Given the description of an element on the screen output the (x, y) to click on. 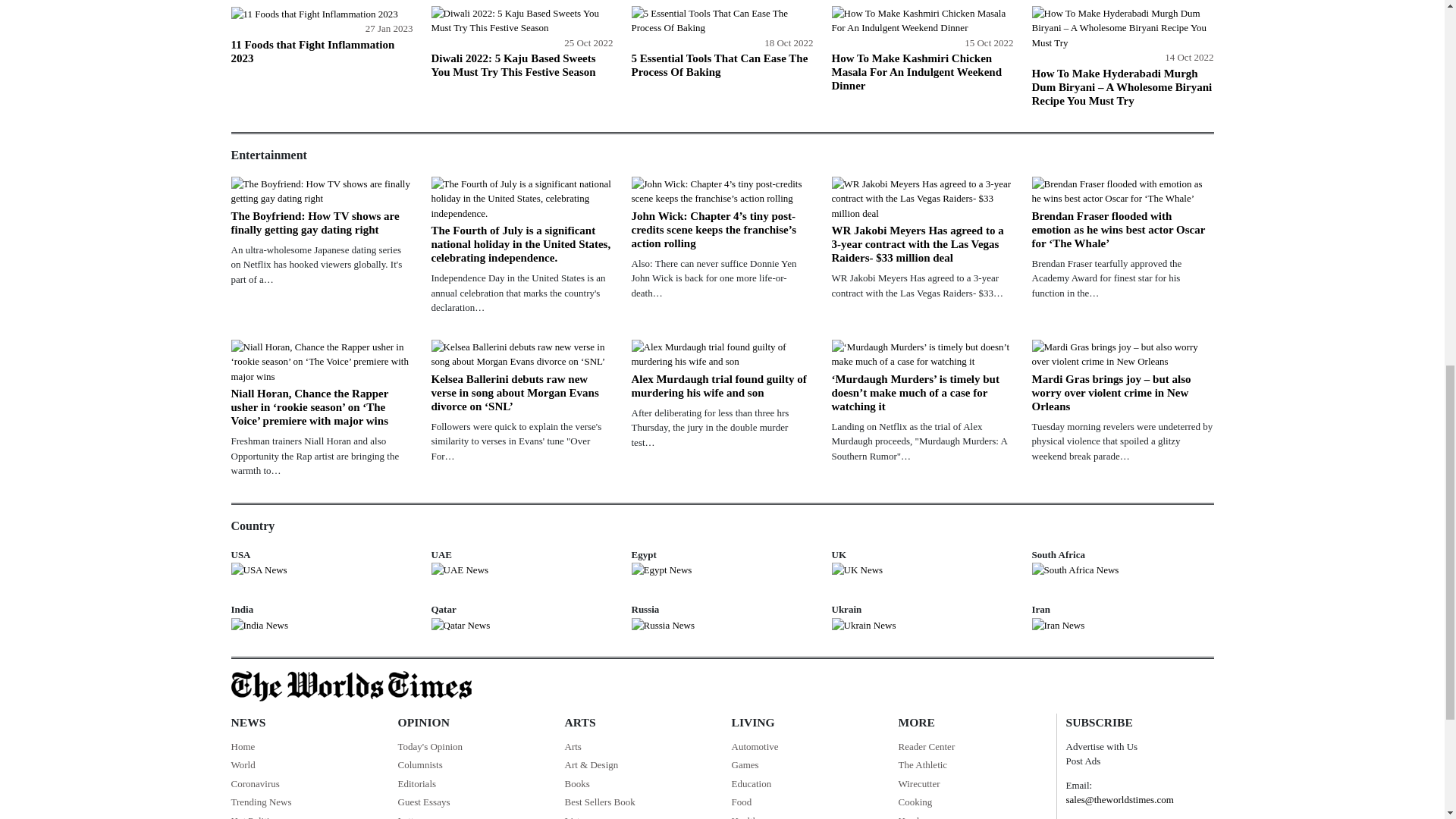
11 Foods that Fight Inflammation 2023 (313, 14)
5 Essential Tools That Can Ease The Process Of Baking (721, 20)
